Given the description of an element on the screen output the (x, y) to click on. 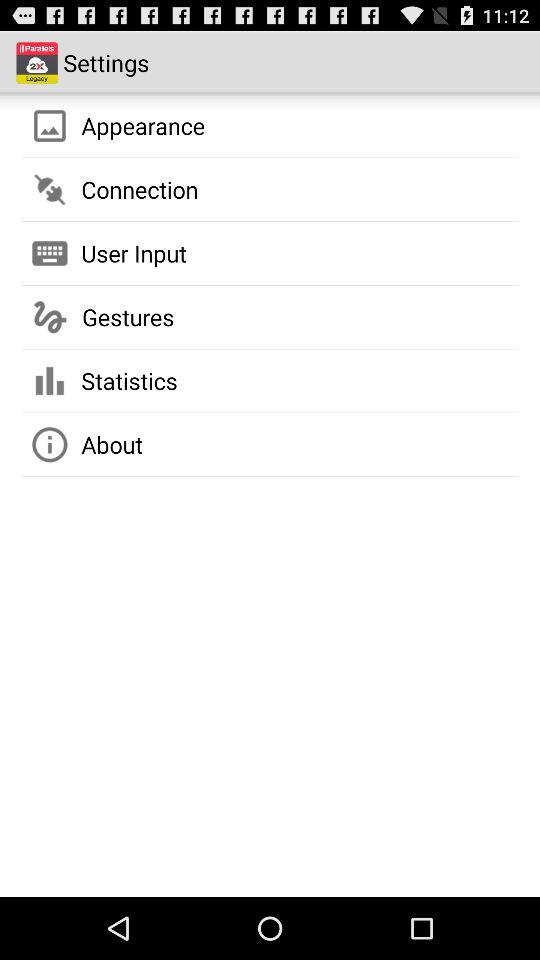
jump until connection icon (139, 189)
